Given the description of an element on the screen output the (x, y) to click on. 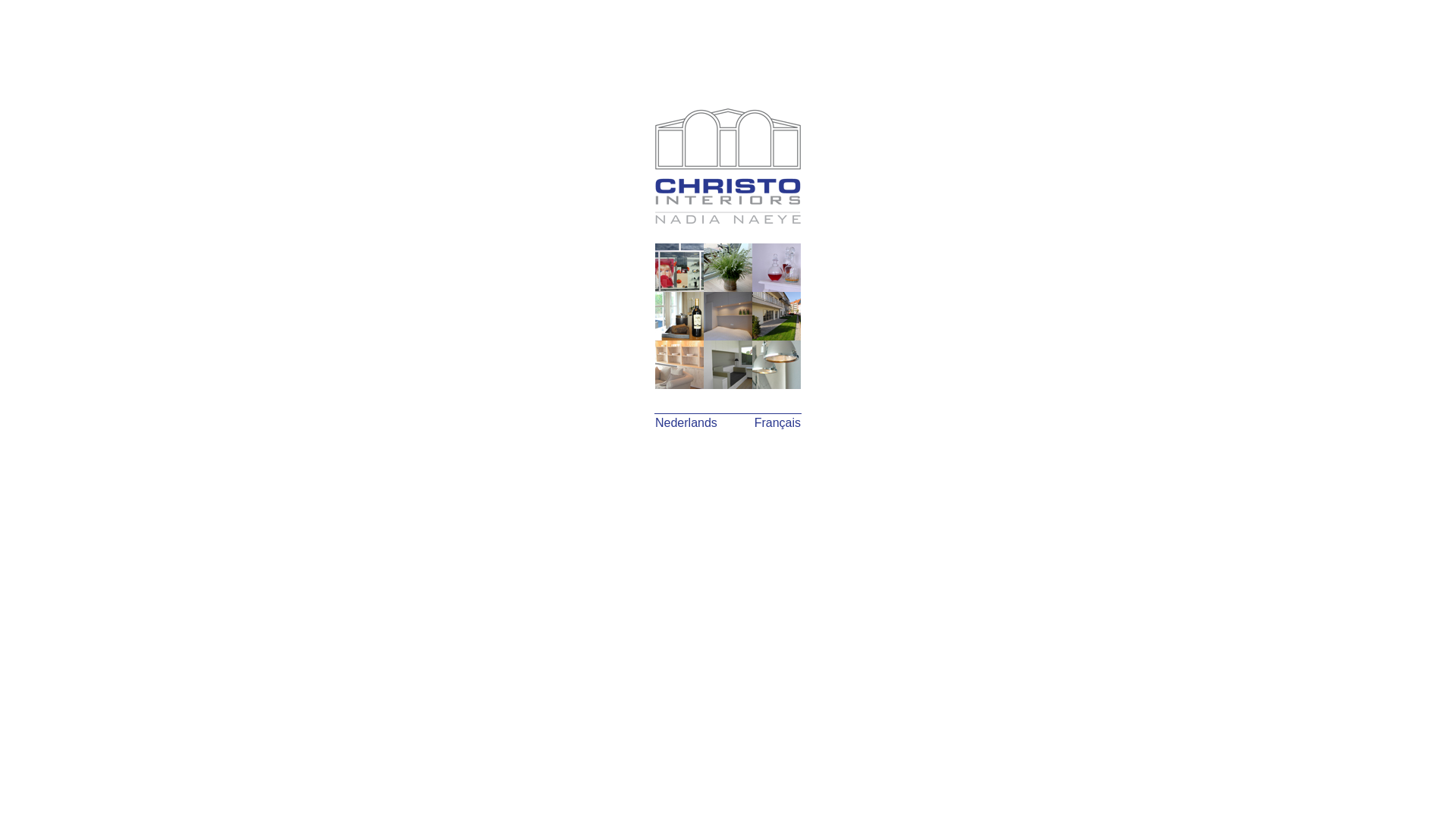
Nederlands Element type: text (686, 422)
